Given the description of an element on the screen output the (x, y) to click on. 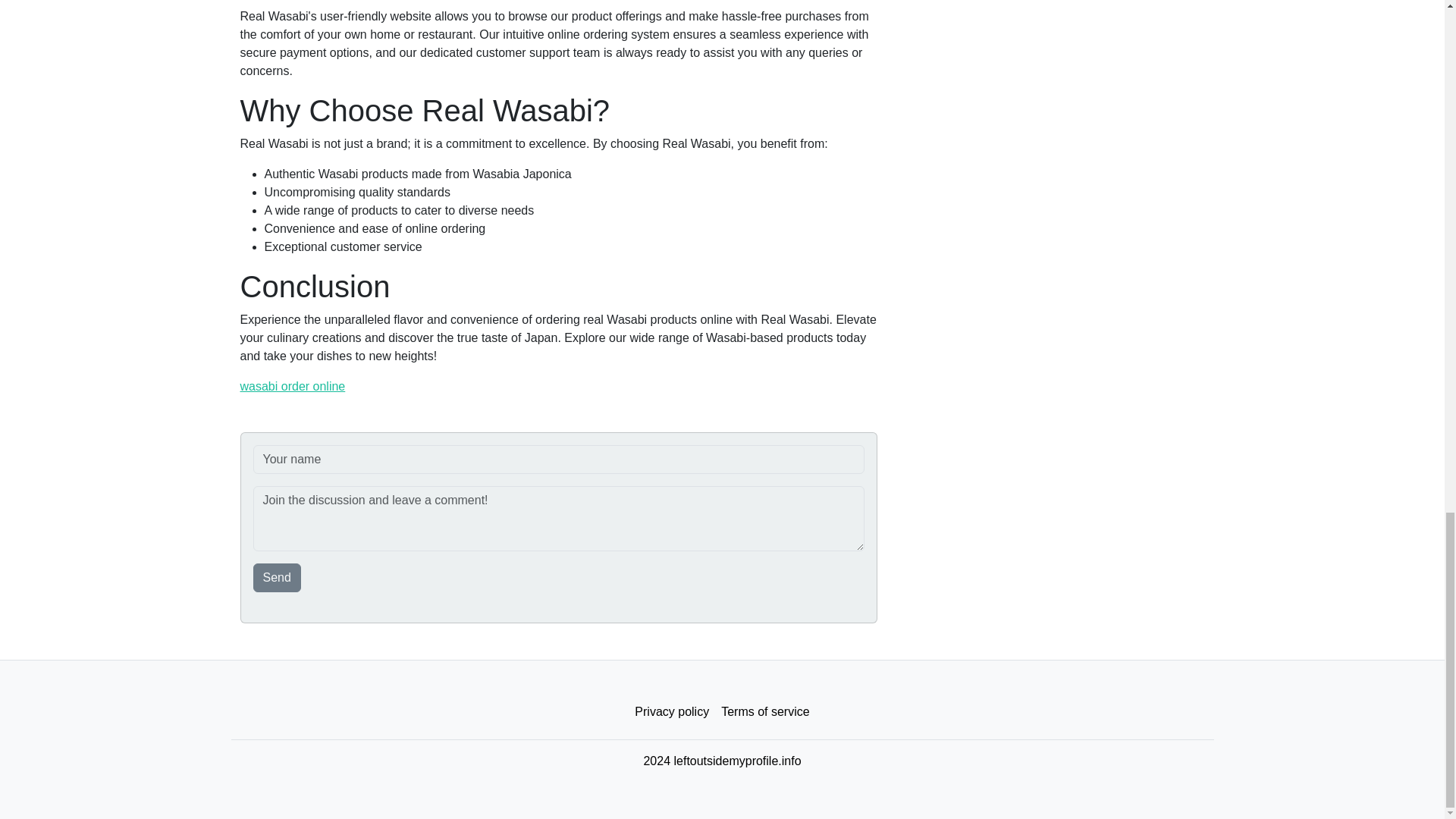
Terms of service (764, 711)
Send (277, 577)
Privacy policy (671, 711)
Send (277, 577)
wasabi order online (292, 386)
